Given the description of an element on the screen output the (x, y) to click on. 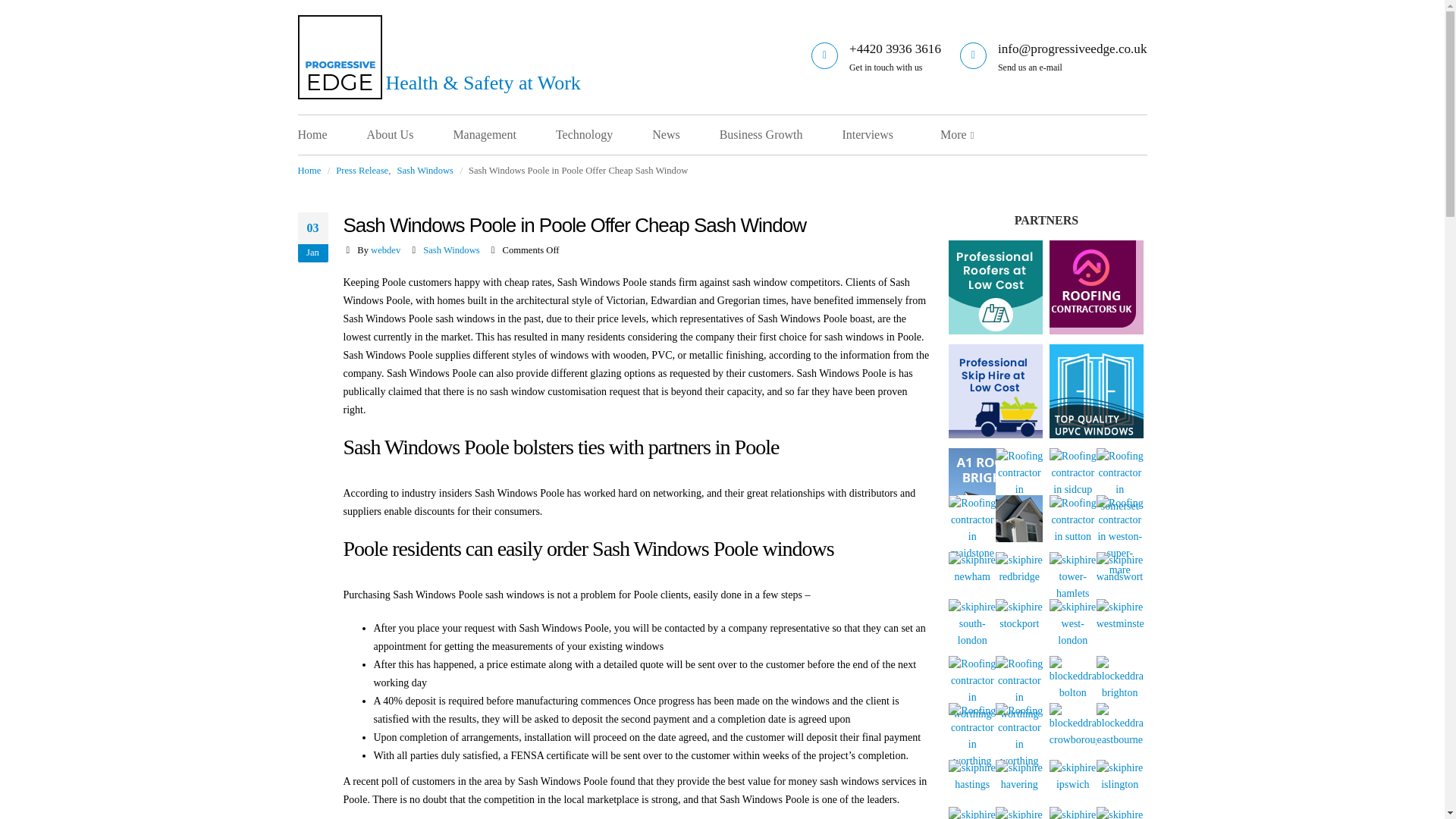
Home (331, 134)
Technology (603, 134)
More (953, 134)
News (684, 134)
Sash Windows (451, 249)
Sash Windows (424, 170)
webdev (385, 249)
Business Growth (780, 134)
Interviews (886, 134)
